Given the description of an element on the screen output the (x, y) to click on. 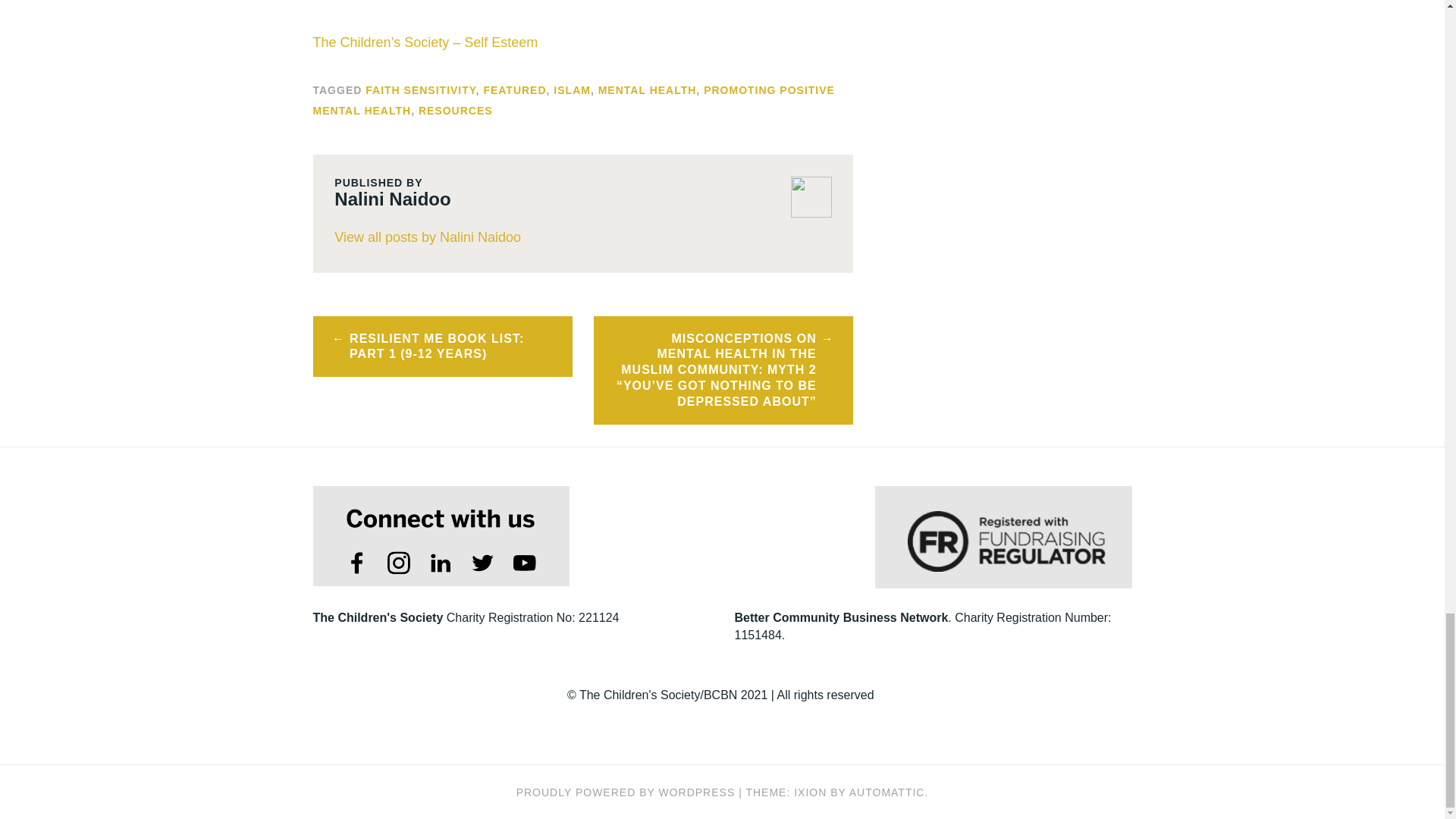
ISLAM (572, 90)
FEATURED (514, 90)
View all posts by Nalini Naidoo (582, 237)
RESOURCES (456, 110)
MENTAL HEALTH (647, 90)
FAITH SENSITIVITY (420, 90)
PROMOTING POSITIVE MENTAL HEALTH (573, 100)
